Given the description of an element on the screen output the (x, y) to click on. 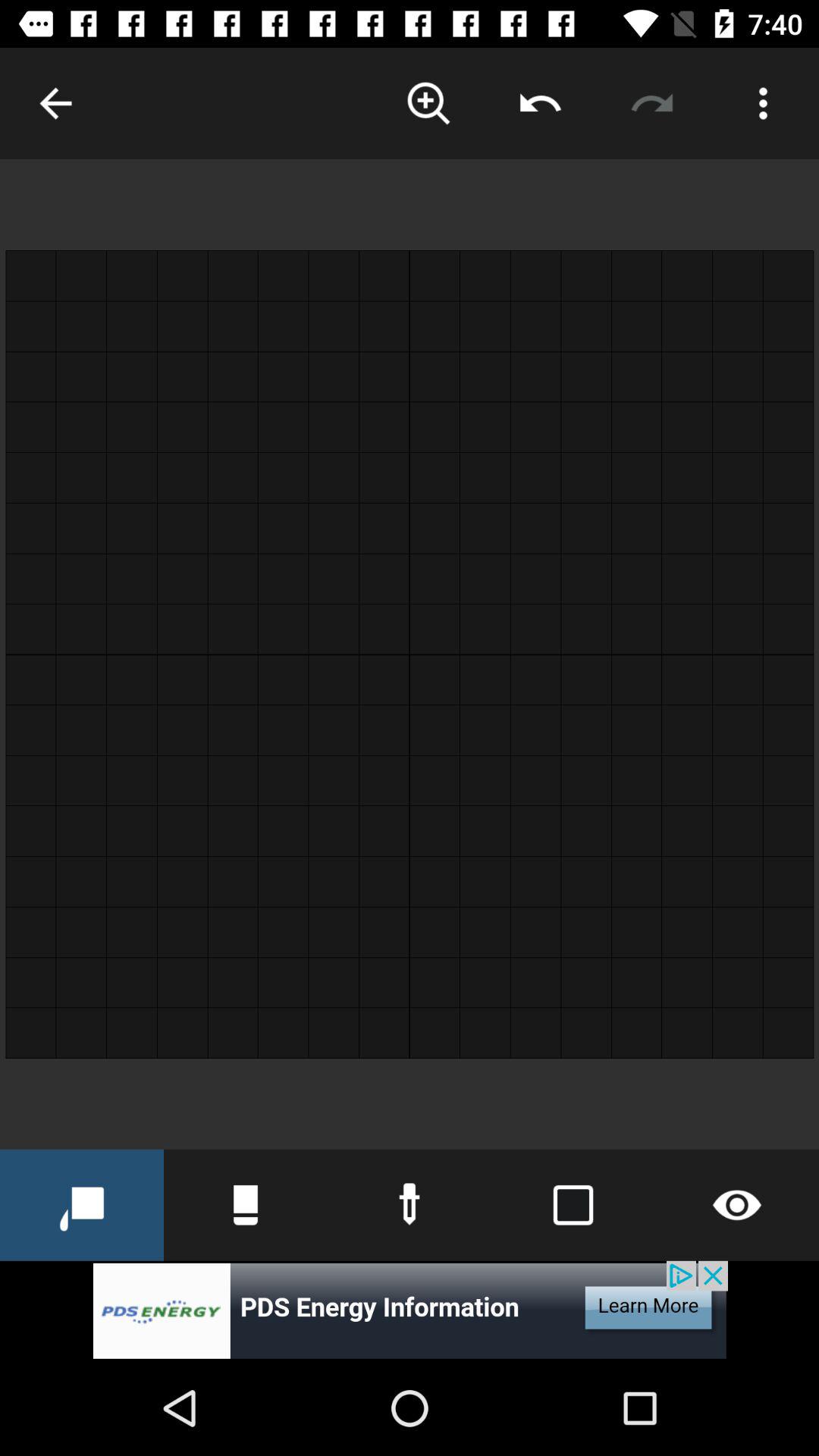
redo change (651, 103)
